Given the description of an element on the screen output the (x, y) to click on. 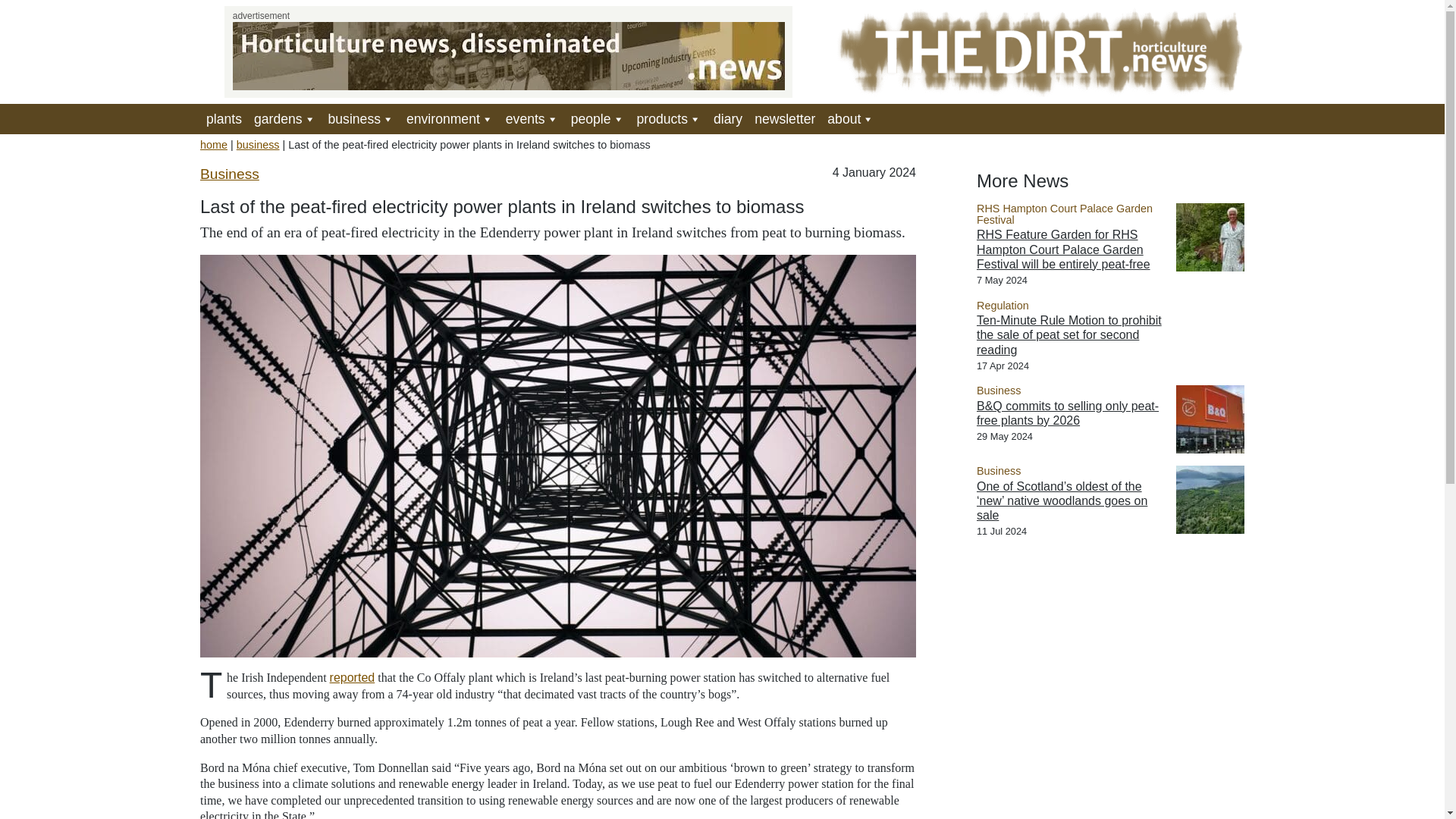
plants (223, 119)
gardens (284, 119)
business (360, 119)
environment (449, 119)
